Given the description of an element on the screen output the (x, y) to click on. 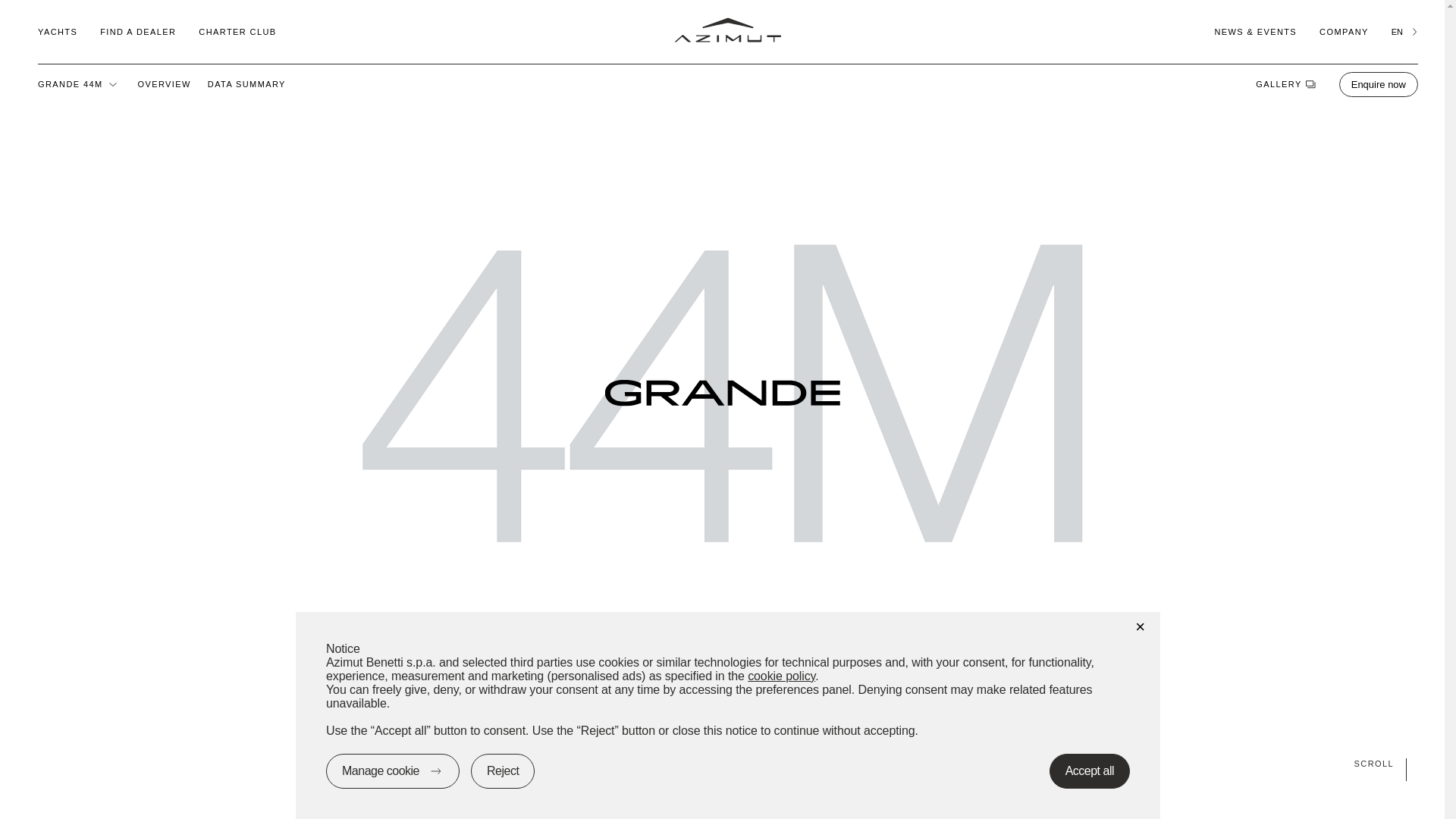
Enquire now (1378, 83)
DATA SUMMARY (246, 83)
COMPANY (1343, 31)
FIND A DEALER (138, 31)
YACHTS (57, 31)
EN (1404, 31)
SCROLL (722, 763)
OVERVIEW (164, 83)
CHARTER CLUB (237, 31)
